Given the description of an element on the screen output the (x, y) to click on. 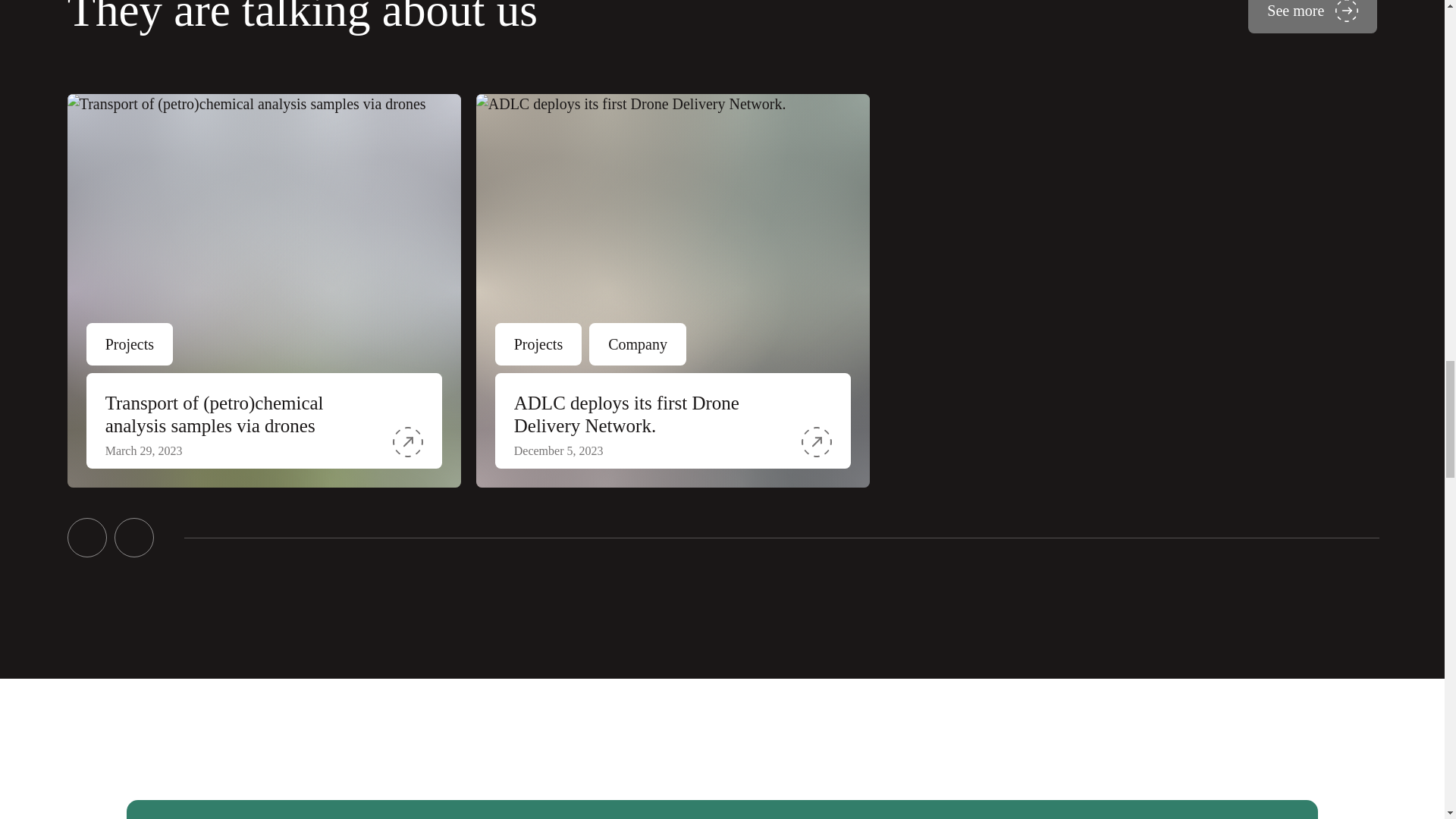
See more (1312, 16)
